Given the description of an element on the screen output the (x, y) to click on. 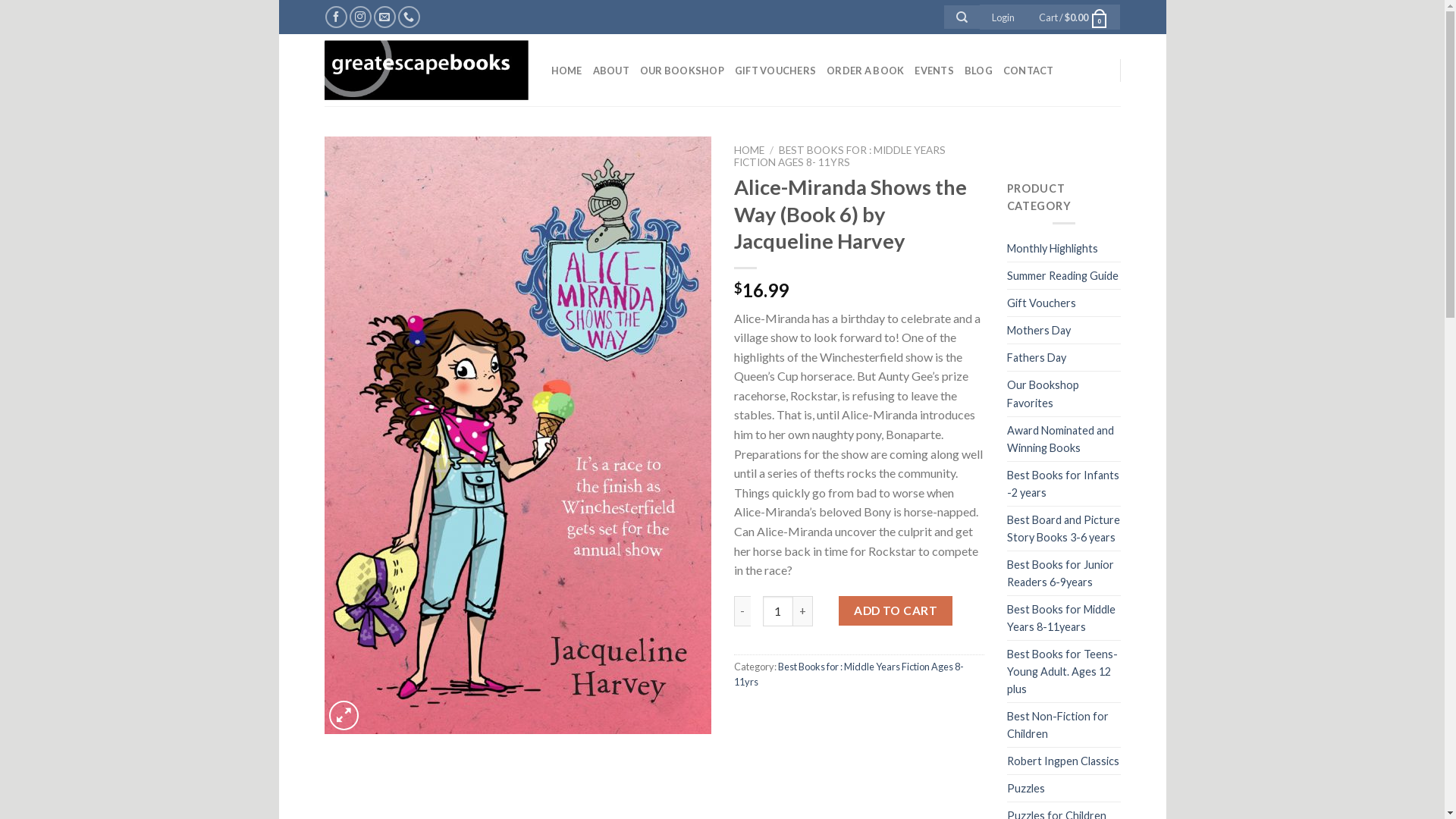
Gift Vouchers Element type: text (1041, 302)
Puzzles Element type: text (1025, 788)
Best Books for : Middle Years Fiction Ages 8- 11yrs Element type: text (848, 673)
Login Element type: text (1002, 16)
GIFT VOUCHERS Element type: text (774, 69)
Mothers Day Element type: text (1038, 329)
Our Bookshop Favorites Element type: text (1063, 393)
ADD TO CART Element type: text (894, 610)
Best Books for Teens- Young Adult. Ages 12 plus Element type: text (1063, 671)
Best Books for Middle Years 8-11years Element type: text (1063, 618)
Share on Twitter Element type: hover (774, 715)
Fathers Day Element type: text (1036, 357)
Follow on Instagram Element type: hover (360, 17)
Follow on Facebook Element type: hover (336, 17)
Best Books for Infants -2 years Element type: text (1063, 483)
Pin on Pinterest Element type: hover (828, 715)
EVENTS Element type: text (933, 69)
Send us an email Element type: hover (384, 17)
BLOG Element type: text (978, 69)
Best Books for Junior Readers 6-9years Element type: text (1063, 573)
Robert Ingpen Classics Element type: text (1063, 760)
Award Nominated and Winning Books Element type: text (1063, 439)
HOME Element type: text (565, 69)
Email to a Friend Element type: hover (801, 715)
Zoom Element type: hover (343, 715)
Best Non-Fiction for Children Element type: text (1063, 724)
ORDER A BOOK Element type: text (864, 69)
HOME Element type: text (749, 150)
BEST BOOKS FOR : MIDDLE YEARS FICTION AGES 8- 11YRS Element type: text (839, 156)
ABOUT Element type: text (611, 69)
Summer Reading Guide Element type: text (1062, 275)
Share on Facebook Element type: hover (746, 715)
OUR BOOKSHOP Element type: text (682, 69)
Call us Element type: hover (409, 17)
Cart / $0.00
0 Element type: text (1073, 16)
Great Escape Books - Great Ocean Road, Aireys Inlet Element type: hover (426, 70)
CONTACT Element type: text (1028, 69)
Best Board and Picture Story Books 3-6 years Element type: text (1063, 528)
Monthly Highlights Element type: text (1052, 248)
